Given the description of an element on the screen output the (x, y) to click on. 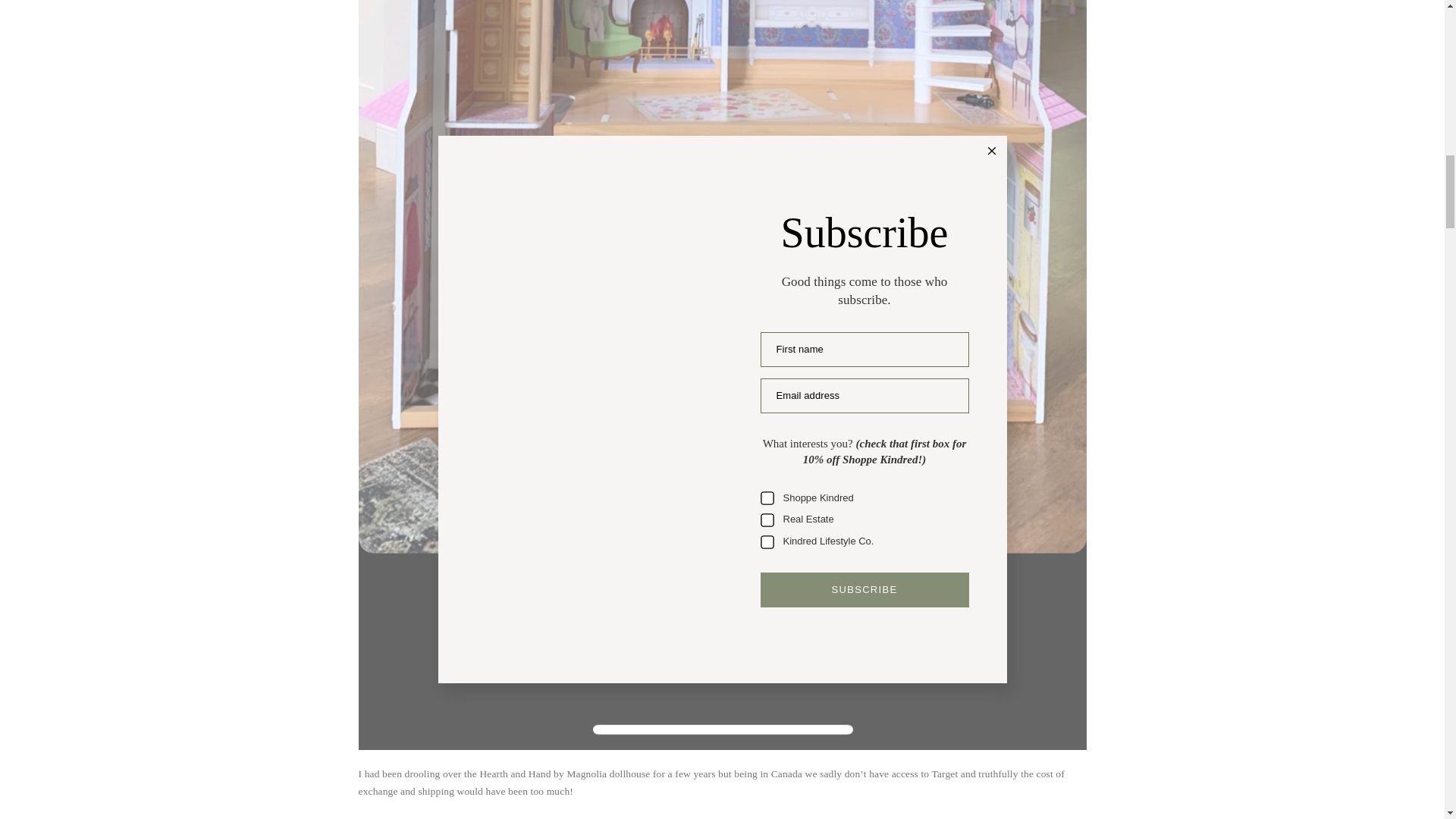
Hearth and Hand by Magnolia (543, 773)
